Given the description of an element on the screen output the (x, y) to click on. 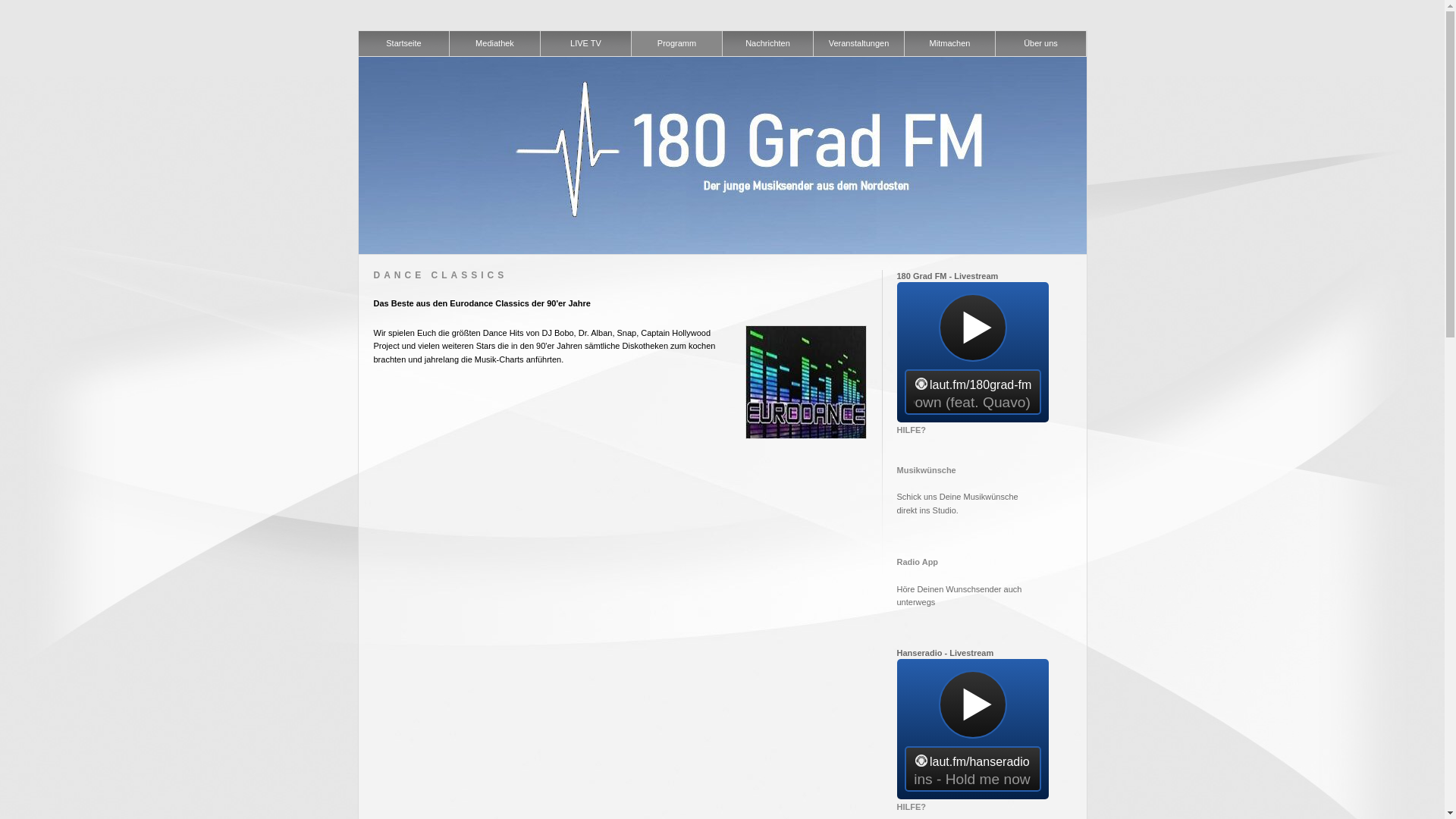
Mediathek Element type: text (493, 43)
Radio App Element type: text (917, 561)
Mitmachen Element type: text (948, 43)
Veranstaltungen Element type: text (857, 43)
Nachrichten Element type: text (766, 43)
Programm Element type: text (675, 43)
HILFE? Element type: text (910, 429)
Startseite Element type: text (402, 43)
LIVE TV Element type: text (584, 43)
HILFE? Element type: text (910, 806)
